Given the description of an element on the screen output the (x, y) to click on. 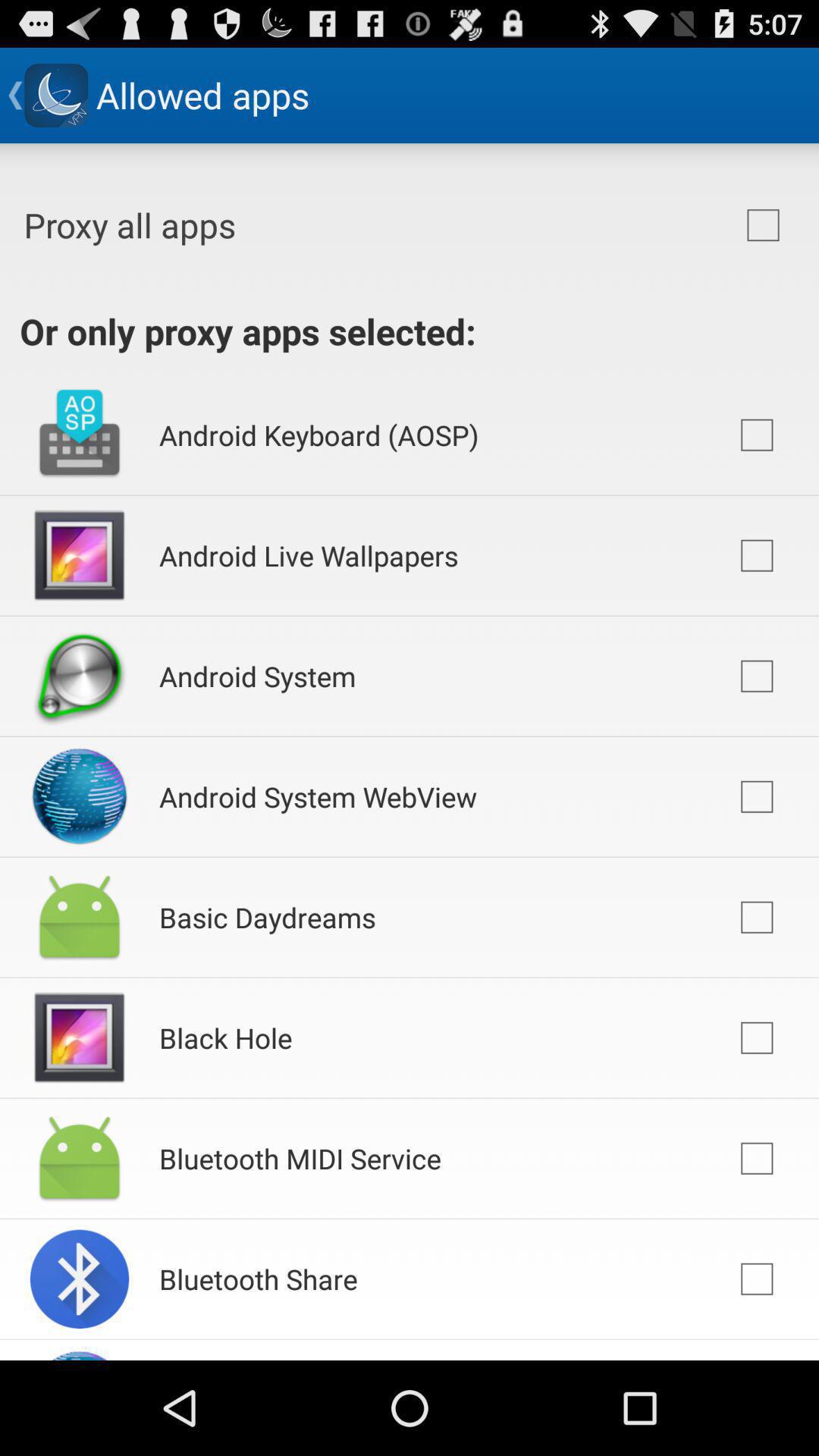
click app below or only proxy app (318, 434)
